Given the description of an element on the screen output the (x, y) to click on. 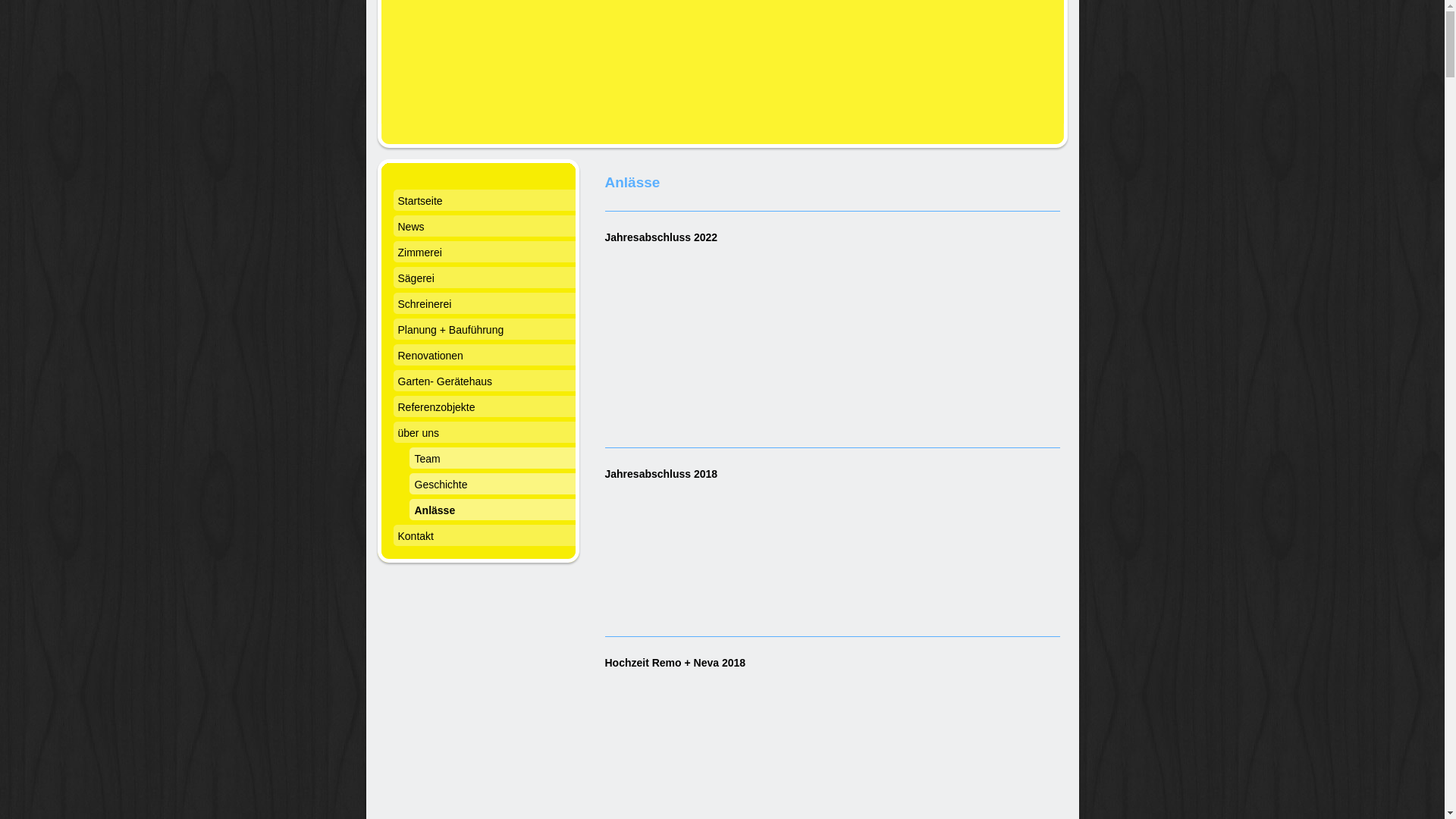
Team Element type: text (483, 460)
Referenzobjekte Element type: text (483, 408)
Geschichte Element type: text (483, 485)
Startseite Element type: text (483, 202)
Renovationen Element type: text (483, 357)
Kontakt Element type: text (483, 537)
Zimmerei Element type: text (483, 253)
Schreinerei Element type: text (483, 305)
News Element type: text (483, 228)
